Given the description of an element on the screen output the (x, y) to click on. 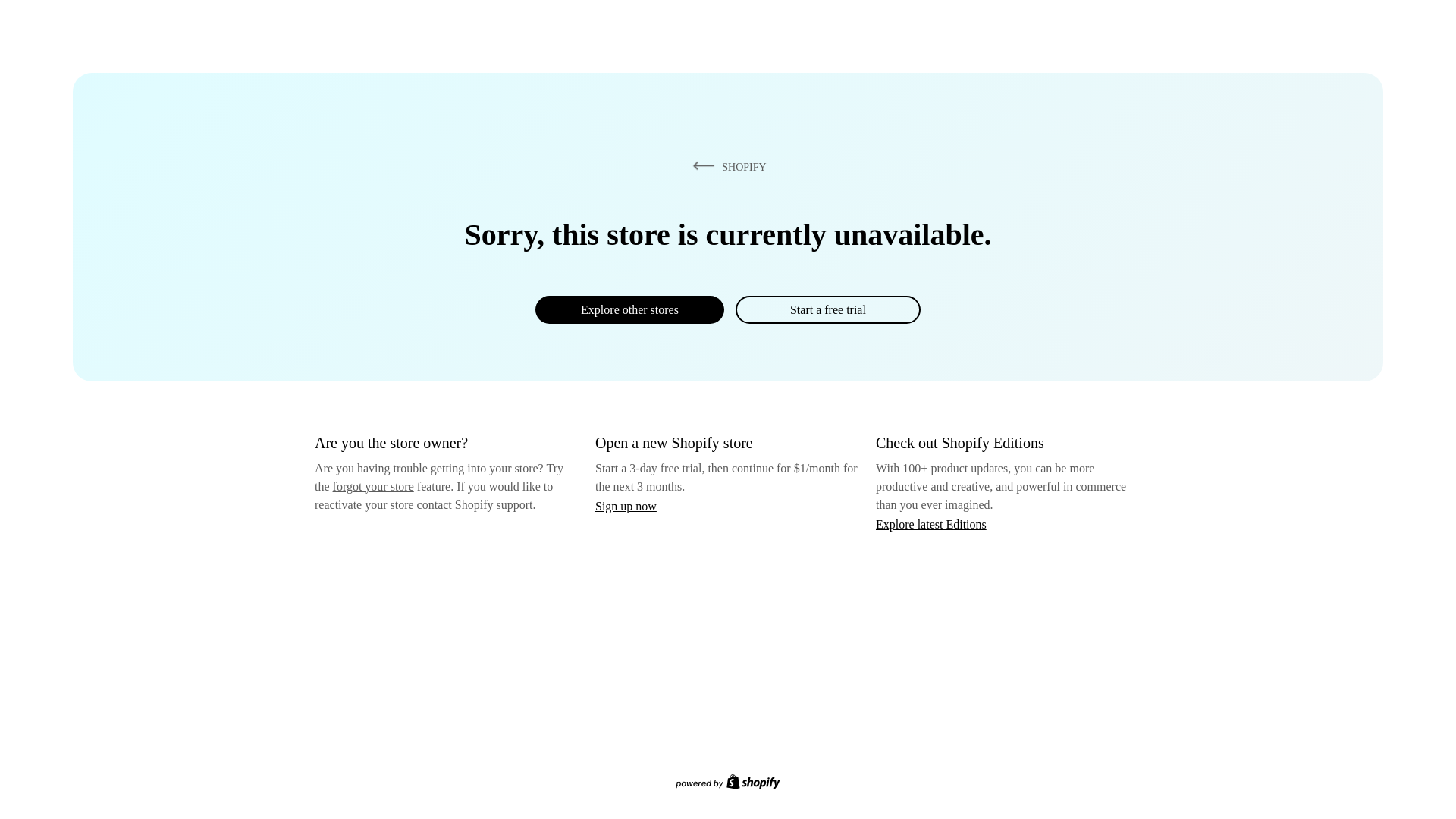
SHOPIFY (726, 166)
Shopify support (493, 504)
Sign up now (625, 505)
Explore other stores (629, 309)
Explore latest Editions (931, 523)
Start a free trial (827, 309)
forgot your store (373, 486)
